Given the description of an element on the screen output the (x, y) to click on. 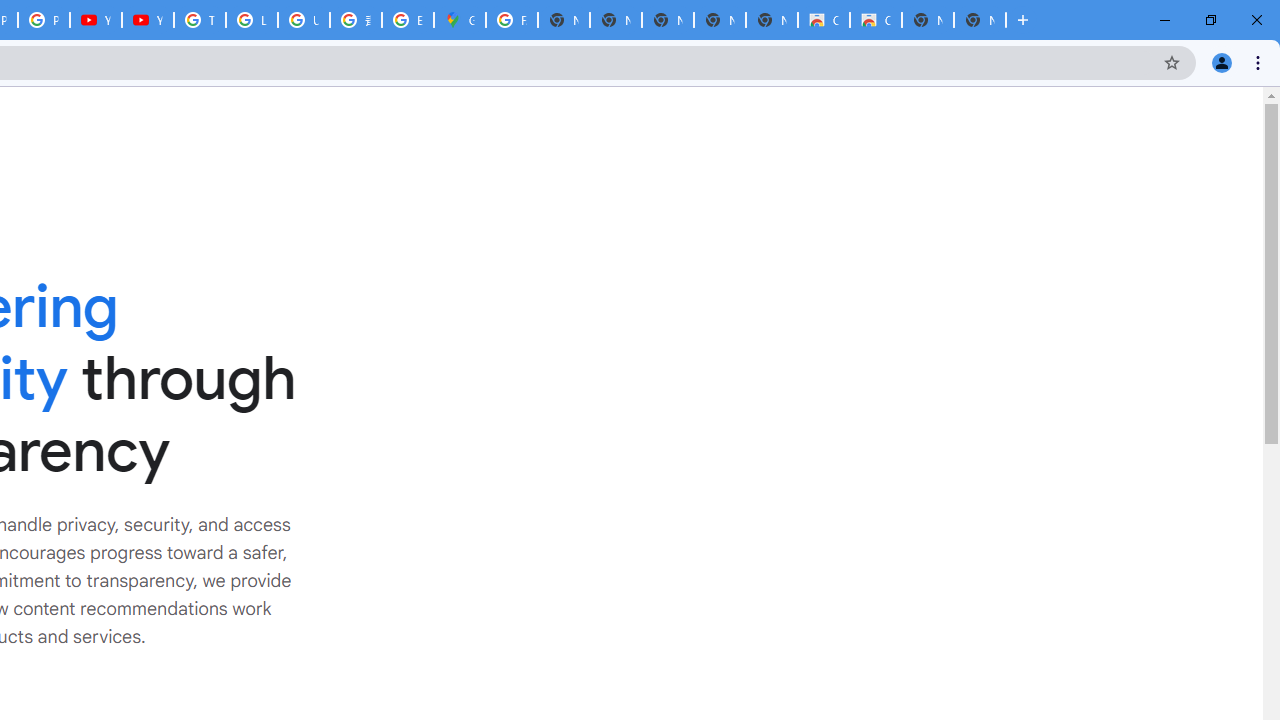
Privacy Checkup (43, 20)
New Tab (979, 20)
Classic Blue - Chrome Web Store (875, 20)
YouTube (95, 20)
Google Maps (459, 20)
YouTube (147, 20)
Explore new street-level details - Google Maps Help (407, 20)
